Given the description of an element on the screen output the (x, y) to click on. 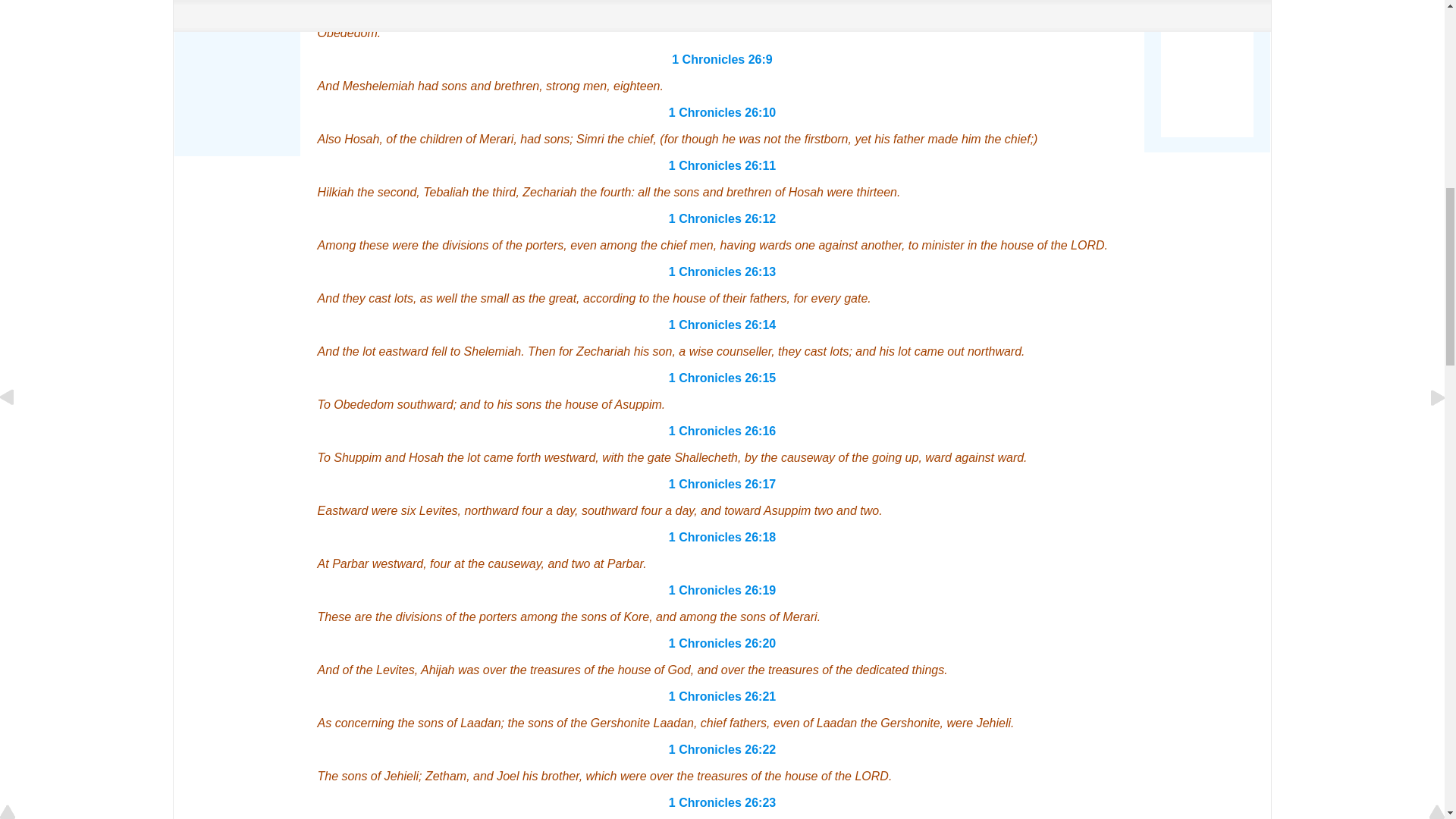
1 Chronicles 26:18 (722, 536)
1 Chronicles 26:14 (722, 324)
1 Chronicles 26:9 (722, 59)
1 Chronicles 26:13 (722, 271)
1 Chronicles 26:17 (722, 483)
1 Chronicles 26:20 (722, 643)
1 Chronicles 26:10 (722, 112)
1 Chronicles 26:21 (722, 696)
1 Chronicles 26:19 (722, 590)
1 Chronicles 26:22 (722, 748)
